Given the description of an element on the screen output the (x, y) to click on. 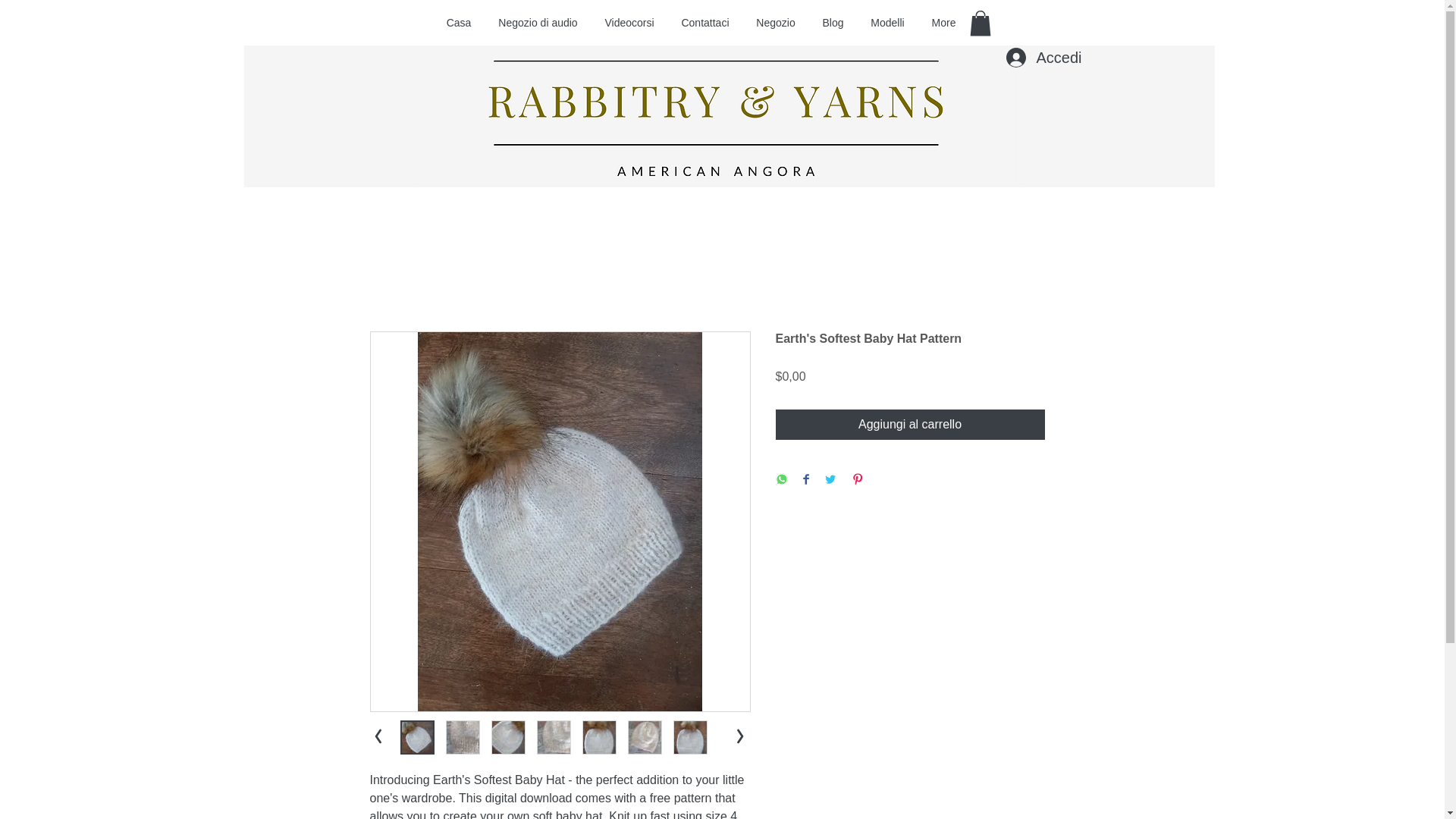
Videocorsi (629, 22)
Contattaci (704, 22)
Aggiungi al carrello (908, 424)
Negozio di audio (537, 22)
Blog (832, 22)
Modelli (887, 22)
Accedi (1040, 57)
Casa (458, 22)
Negozio (775, 22)
